Given the description of an element on the screen output the (x, y) to click on. 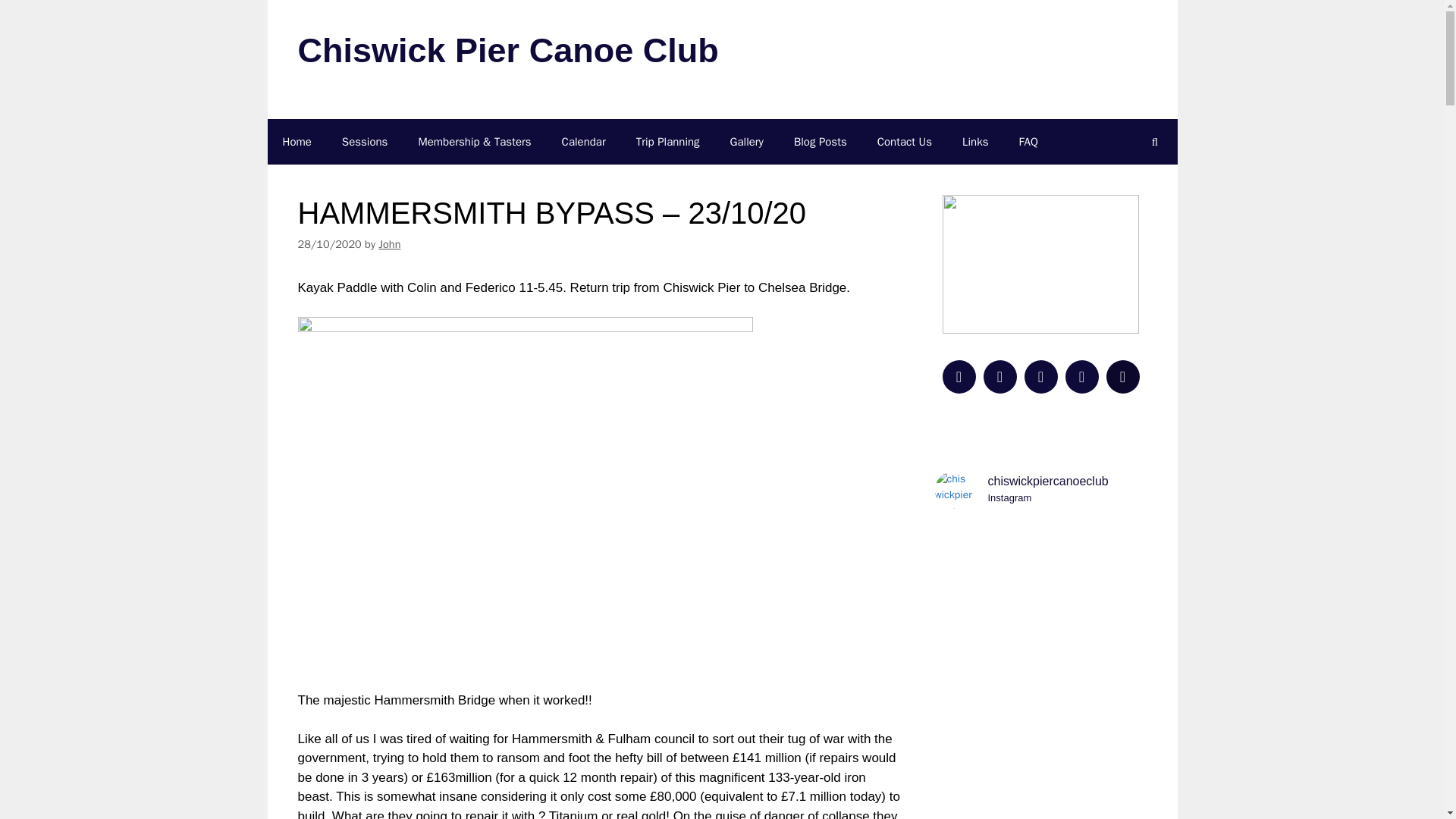
Chiswick Pier Canoe Club (507, 50)
Instagram (1040, 374)
FAQ (1027, 140)
Links (975, 140)
Blog Posts (819, 140)
Gallery (746, 140)
Contact Us (904, 140)
Facebook alt (999, 374)
Mail (1122, 374)
View all posts by John (389, 243)
X (959, 374)
John (389, 243)
Trip Planning (1021, 488)
Calendar (667, 140)
